Given the description of an element on the screen output the (x, y) to click on. 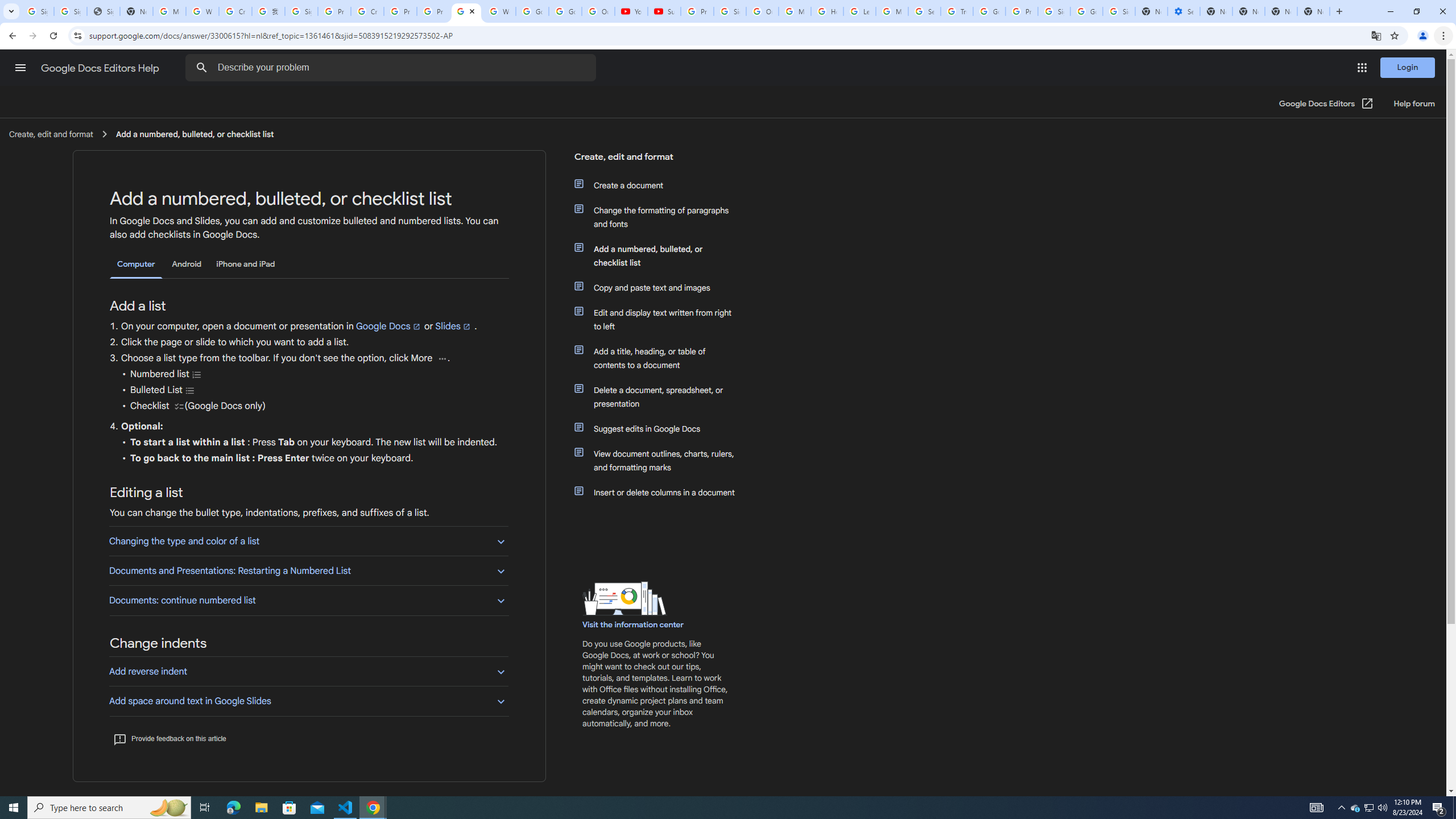
Change the formatting of paragraphs and fonts (661, 217)
Welcome to My Activity (499, 11)
Who is my administrator? - Google Account Help (202, 11)
Login (1407, 67)
Settings - Performance (1183, 11)
Documents and Presentations: Restarting a Numbered List (308, 570)
Provide feedback on this article (169, 738)
Edit and display text written from right to left (661, 319)
